Given the description of an element on the screen output the (x, y) to click on. 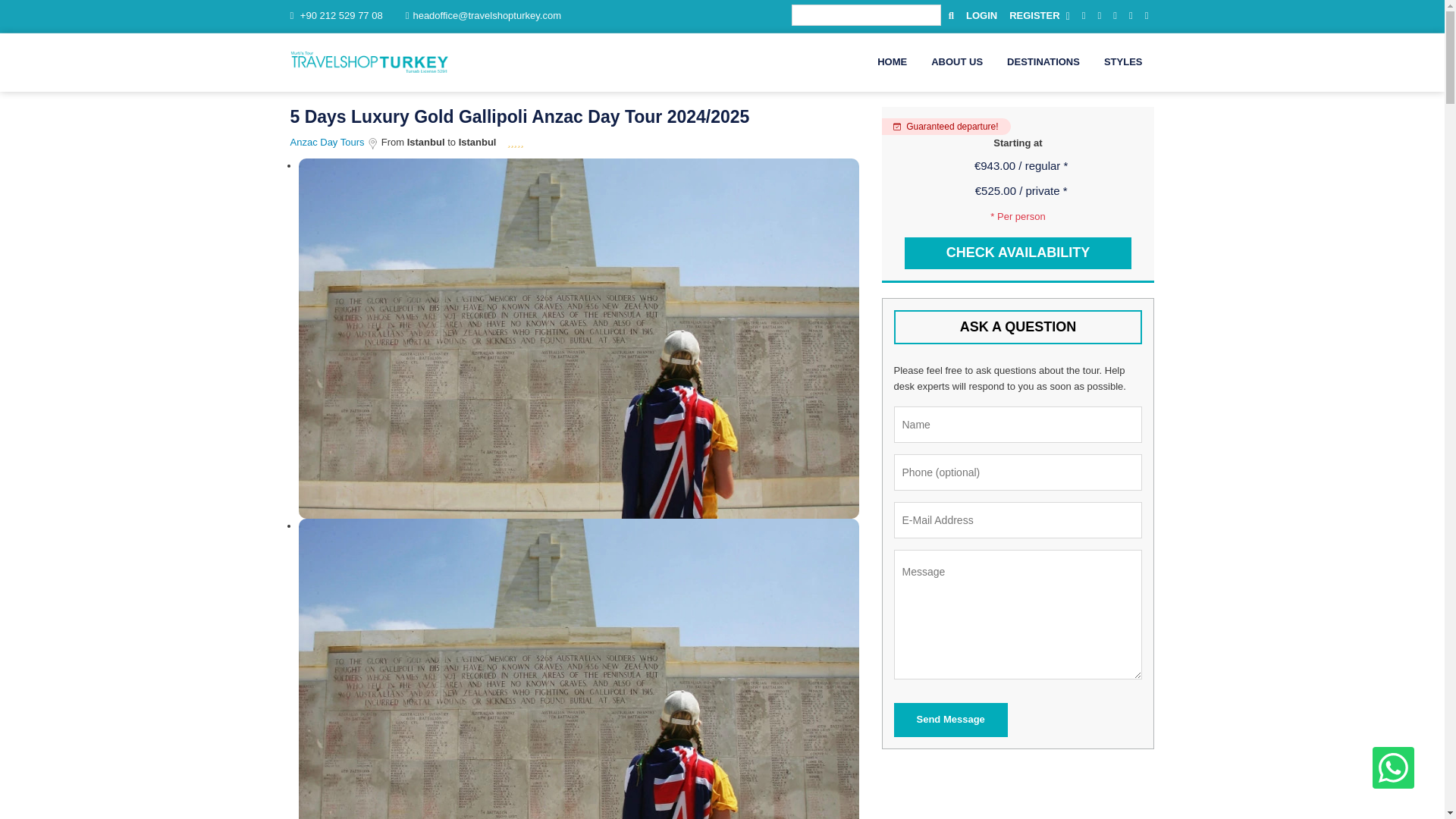
REGISTER (1039, 16)
CHECK AVAILABILITY (1017, 253)
Send Message (950, 719)
Send Message (950, 719)
Anzac Day Tours (327, 142)
Rated 5 out of 5 (515, 142)
Created with Sketch. (372, 143)
DESTINATIONS (1043, 62)
